Given the description of an element on the screen output the (x, y) to click on. 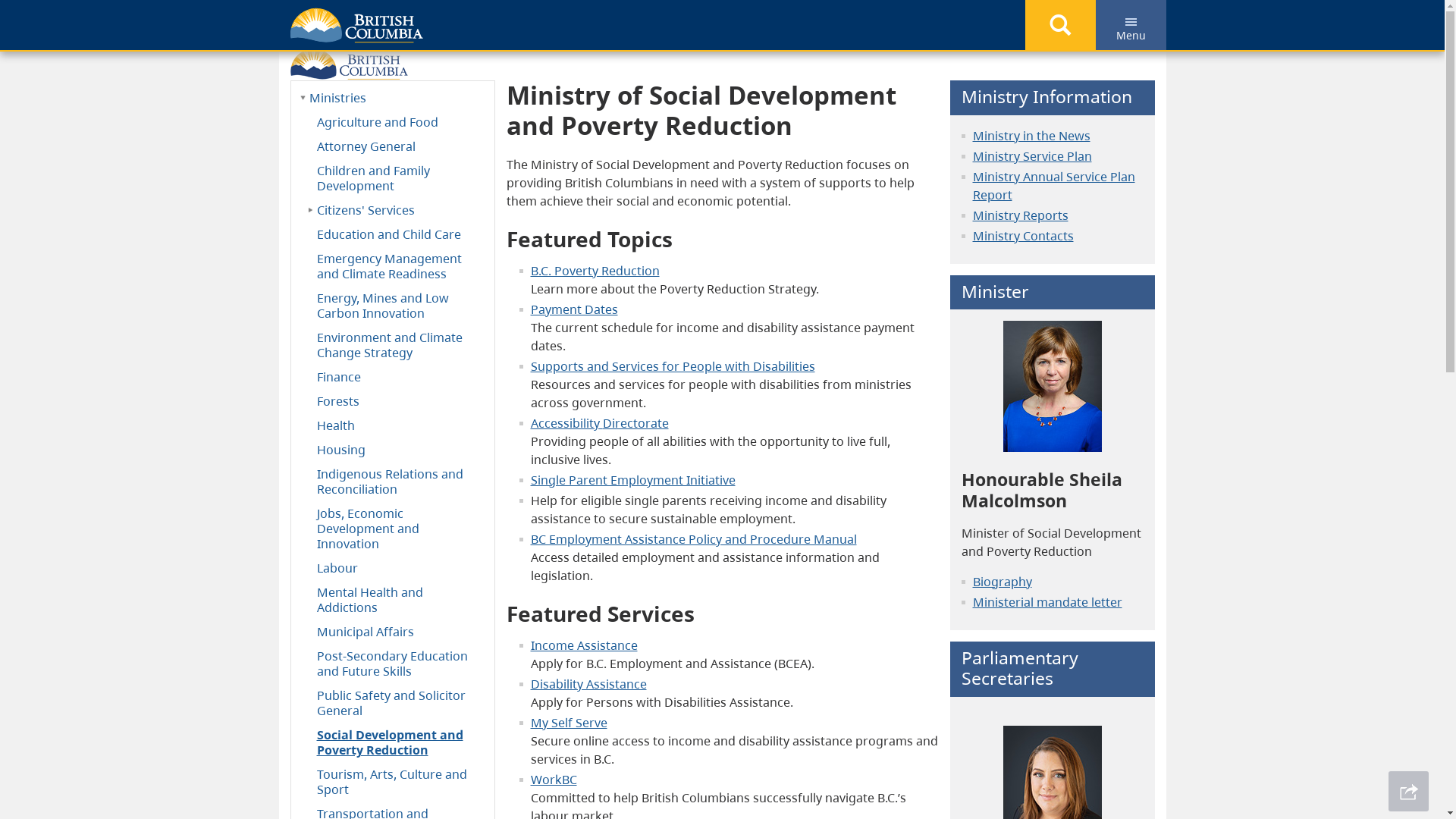
B.C. Poverty Reduction Element type: text (594, 270)
Attorney General Element type: text (392, 145)
Tourism, Arts, Culture and Sport Element type: text (392, 781)
Housing Element type: text (392, 448)
Forests Element type: text (392, 400)
Ministerial mandate letter Element type: text (1046, 601)
Supports and Services for People with Disabilities Element type: text (672, 365)
British Columbians and our governments Element type: text (476, 20)
Home Element type: text (318, 20)
WorkBC Element type: text (553, 778)
Menu Element type: text (1130, 25)
Mental Health and Addictions Element type: text (392, 599)
Environment and Climate Change Strategy Element type: text (392, 344)
Indigenous Relations and Reconciliation Element type: text (392, 480)
Public Safety and Solicitor General Element type: text (392, 702)
Jobs, Economic Development and Innovation Element type: text (392, 527)
Accessibility  Element type: text (566, 422)
Social Development and Poverty Reduction Element type: text (392, 741)
Citizens' Services Element type: text (392, 208)
Single Parent Employment Initiative Element type: text (632, 479)
Ministry Annual Service Plan Report Element type: text (1053, 185)
Ministry Service Plan Element type: text (1031, 155)
Ministries Element type: text (392, 96)
BC Employment Assistance Policy and Procedure Manual Element type: text (693, 538)
Municipal Affairs Element type: text (392, 630)
Biography Element type: text (1001, 581)
Disability Assistance Element type: text (588, 682)
Payment Dates Element type: text (574, 309)
Ministry Contacts Element type: text (1022, 235)
Government of B.C. Element type: hover (348, 60)
Directorate Element type: text (635, 422)
My Self Serve Element type: text (568, 722)
Emergency Management and Climate Readiness Element type: text (392, 265)
Agriculture and Food Element type: text (392, 120)
Education and Child Care Element type: text (392, 233)
Health Element type: text (392, 424)
Finance Element type: text (392, 375)
Government of B.C. Element type: hover (355, 25)
Ministry Reports Element type: text (1019, 215)
Ministries Element type: text (997, 20)
Energy, Mines and Low Carbon Innovation Element type: text (392, 304)
Income Assistance Element type: text (583, 645)
Labour Element type: text (392, 566)
Children and Family Development Element type: text (392, 177)
Share This Page Element type: hover (1408, 791)
Ministries and organizations Element type: text (864, 20)
Post-Secondary Education and Future Skills Element type: text (392, 662)
Organizational structure Element type: text (688, 20)
Ministry in the News Element type: text (1030, 135)
